Given the description of an element on the screen output the (x, y) to click on. 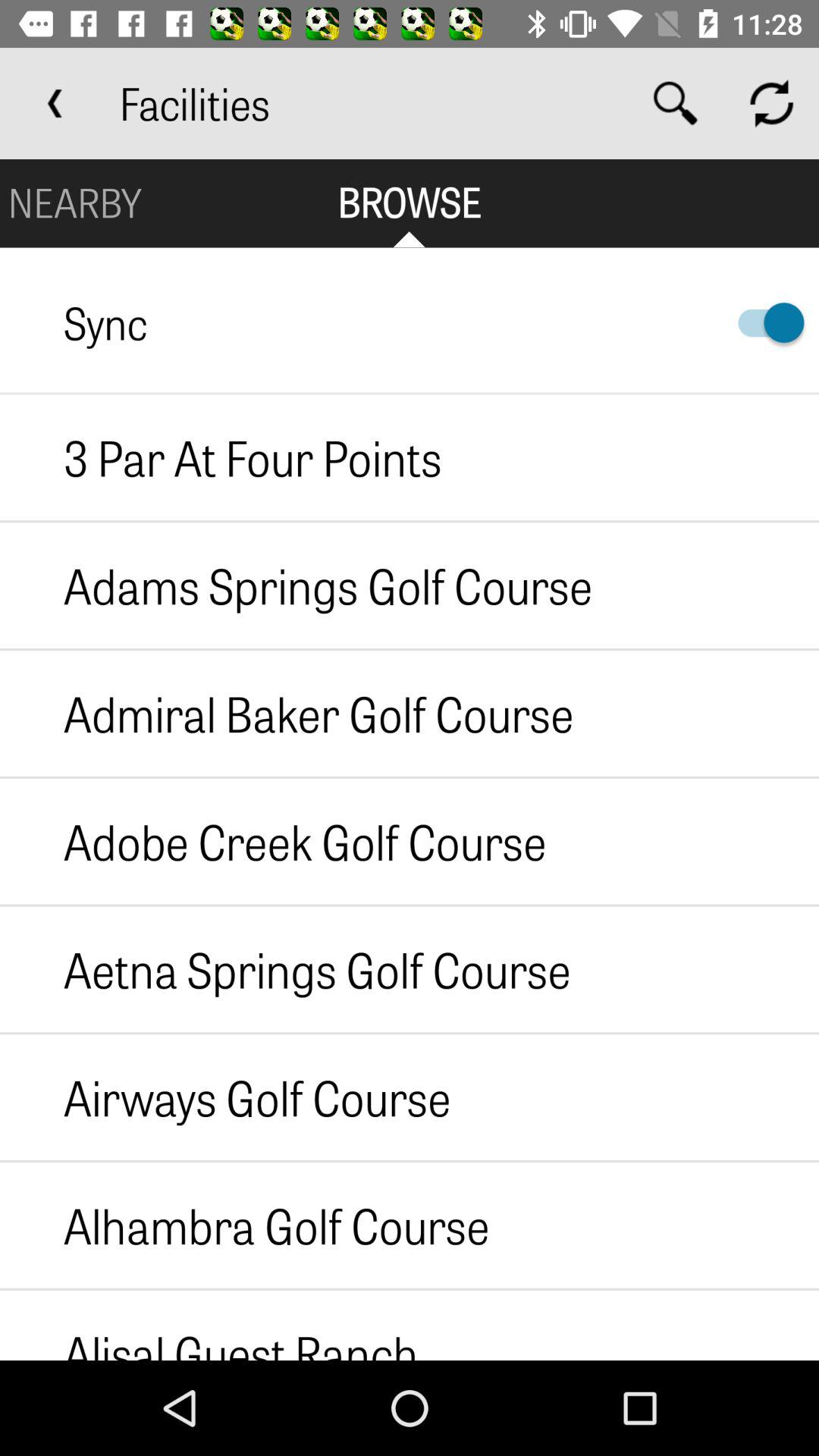
turn on app next to facilities item (55, 103)
